Given the description of an element on the screen output the (x, y) to click on. 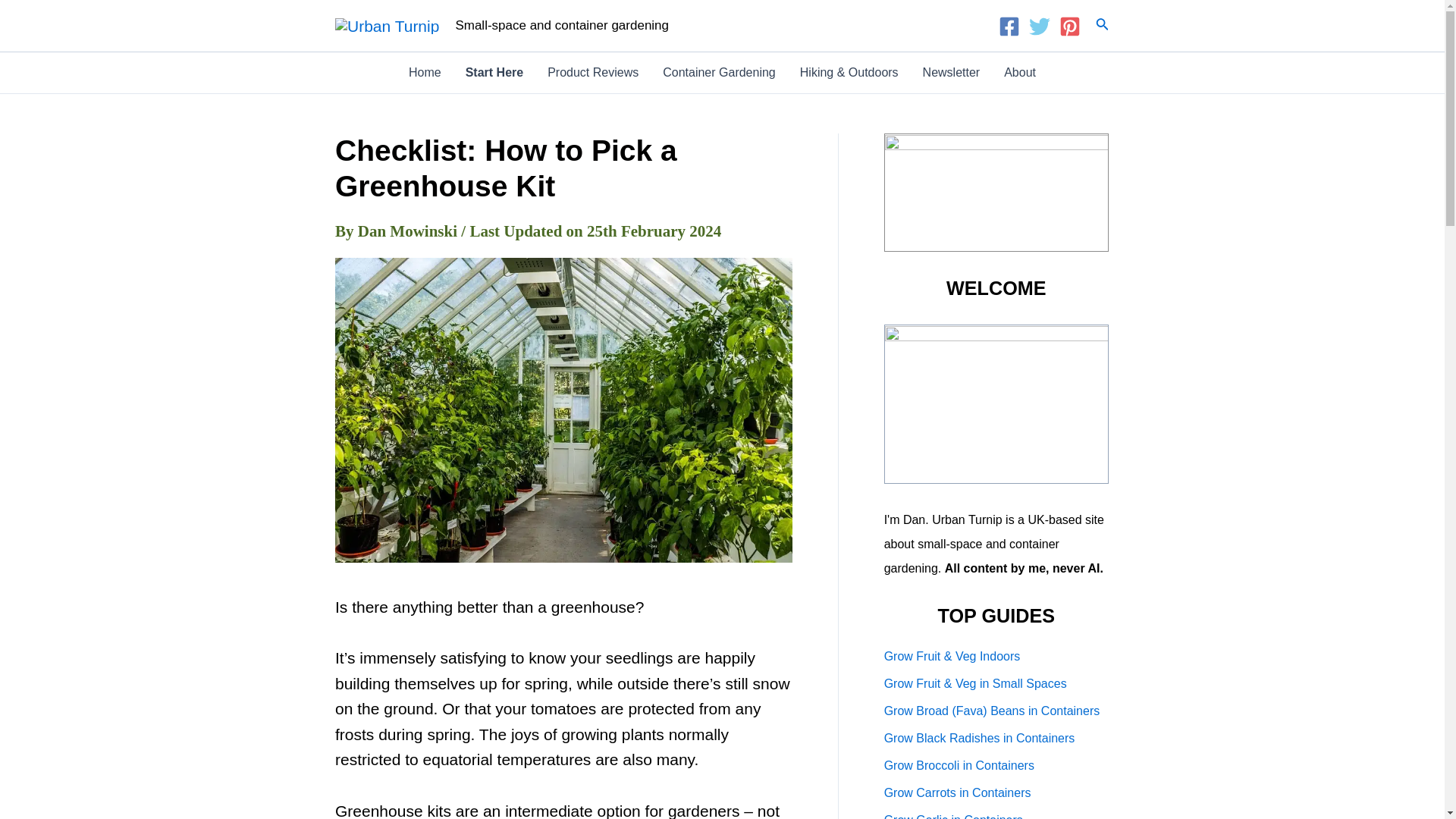
View all posts by Dan Mowinski (409, 230)
About (1019, 71)
Product Reviews (592, 71)
Container Gardening (718, 71)
Home (424, 71)
Newsletter (951, 71)
Start Here (493, 71)
Dan Mowinski (409, 230)
